Given the description of an element on the screen output the (x, y) to click on. 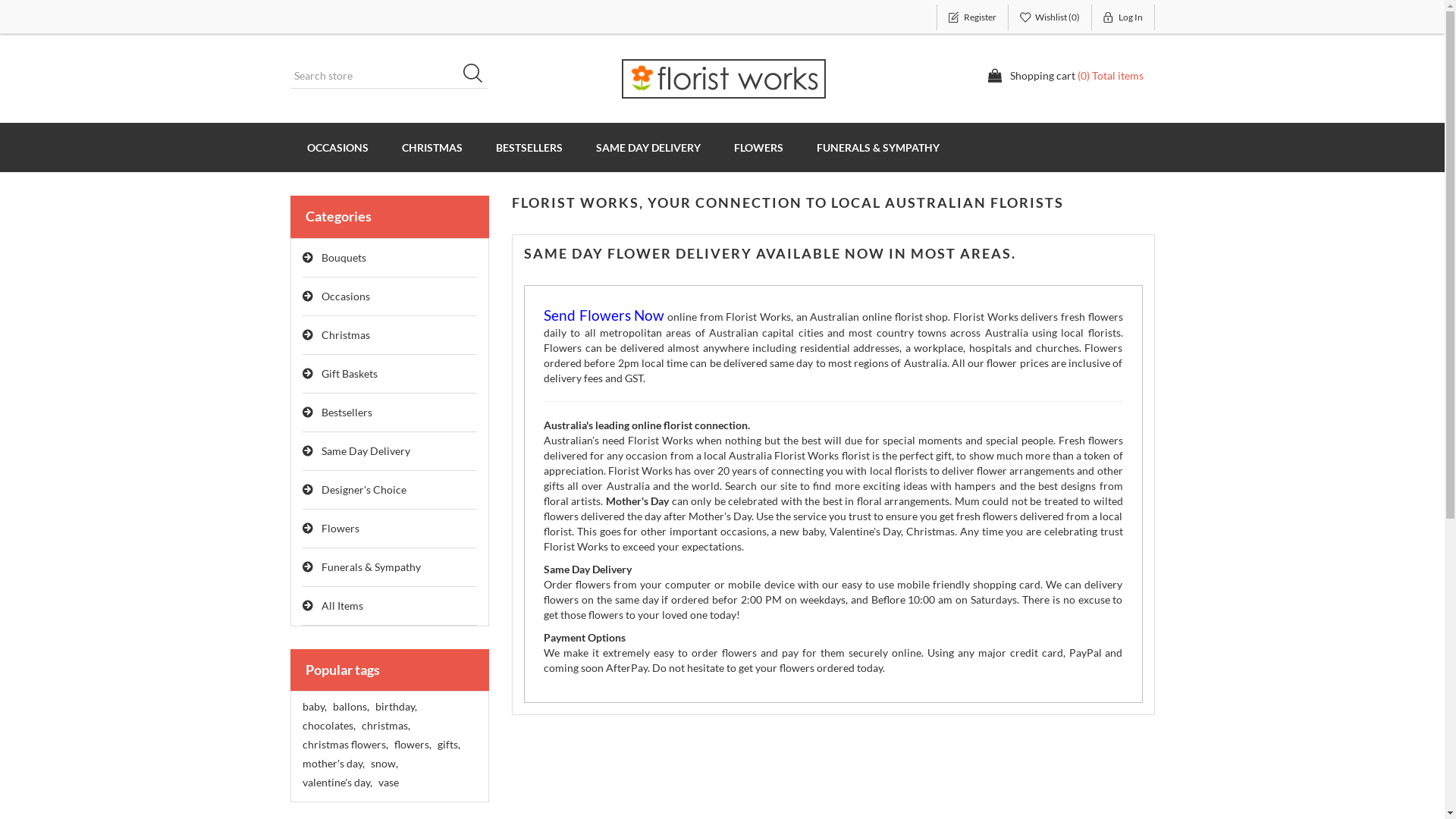
Register Element type: text (971, 17)
Designer's Choice Element type: text (388, 489)
Send Flowers Now Element type: text (603, 316)
BESTSELLERS Element type: text (529, 147)
Gift Baskets Element type: text (388, 373)
birthday, Element type: text (395, 706)
gifts, Element type: text (447, 744)
Funerals & Sympathy Element type: text (388, 567)
Log In Element type: text (1123, 17)
valentine's day, Element type: text (336, 782)
Bestsellers Element type: text (388, 412)
christmas flowers, Element type: text (344, 744)
mother's day, Element type: text (332, 763)
Shopping cart (0) Total items Element type: text (1065, 75)
All Items Element type: text (388, 605)
CHRISTMAS Element type: text (432, 147)
Occasions Element type: text (388, 296)
SAME DAY DELIVERY Element type: text (648, 147)
FLOWERS Element type: text (758, 147)
Wishlist (0) Element type: text (1050, 17)
OCCASIONS Element type: text (336, 147)
ballons, Element type: text (350, 706)
Same Day Delivery Element type: text (388, 451)
baby, Element type: text (313, 706)
flowers, Element type: text (412, 744)
vase Element type: text (387, 782)
chocolates, Element type: text (327, 725)
christmas, Element type: text (384, 725)
snow, Element type: text (383, 763)
Flowers Element type: text (388, 528)
Bouquets Element type: text (388, 257)
FUNERALS & SYMPATHY Element type: text (877, 147)
Christmas Element type: text (388, 335)
